Given the description of an element on the screen output the (x, y) to click on. 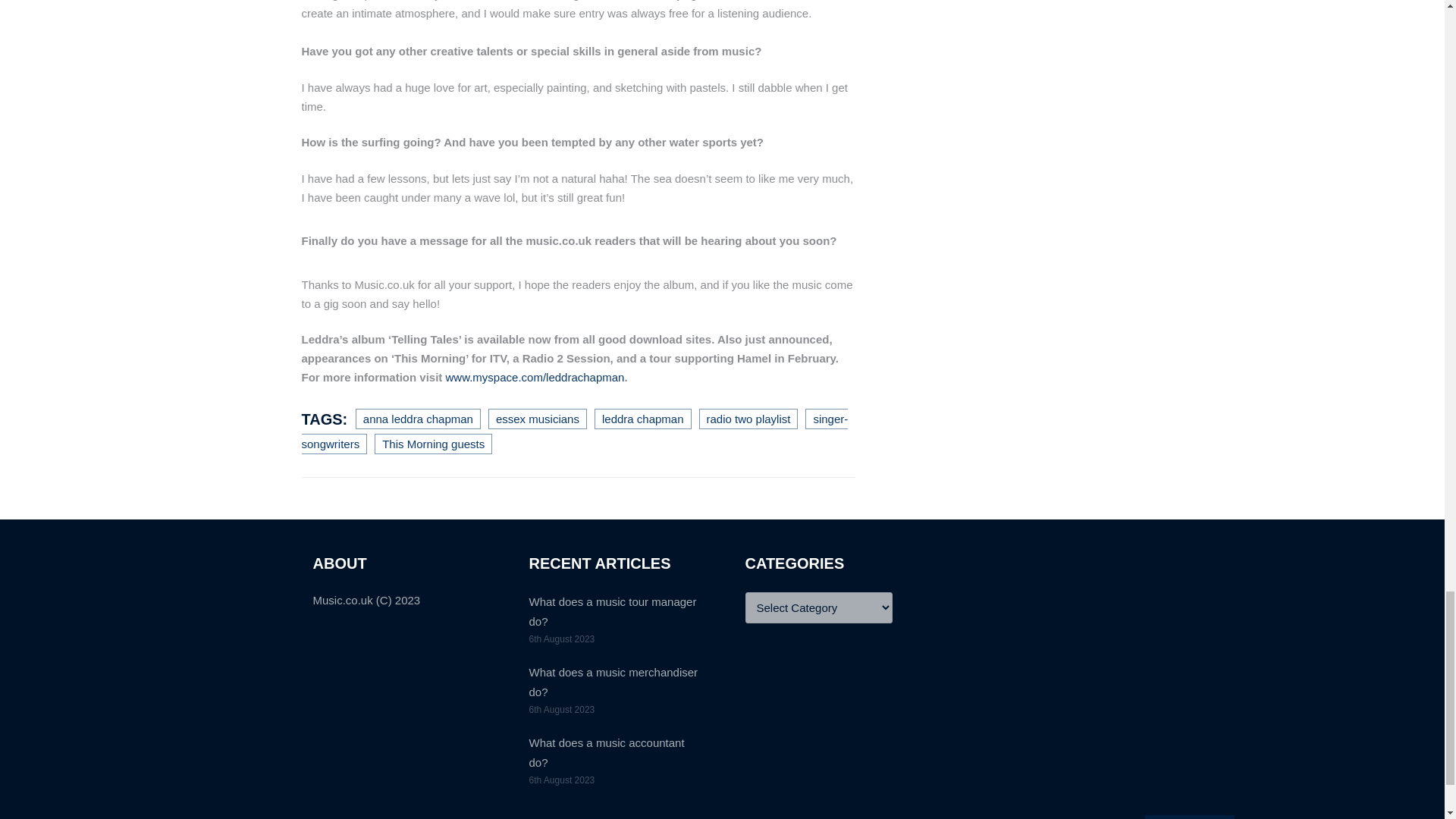
anna leddra chapman (417, 417)
essex musicians (536, 417)
radio two playlist (747, 417)
This Morning guests (433, 444)
leddra chapman (642, 417)
singer-songwriters (574, 430)
